Given the description of an element on the screen output the (x, y) to click on. 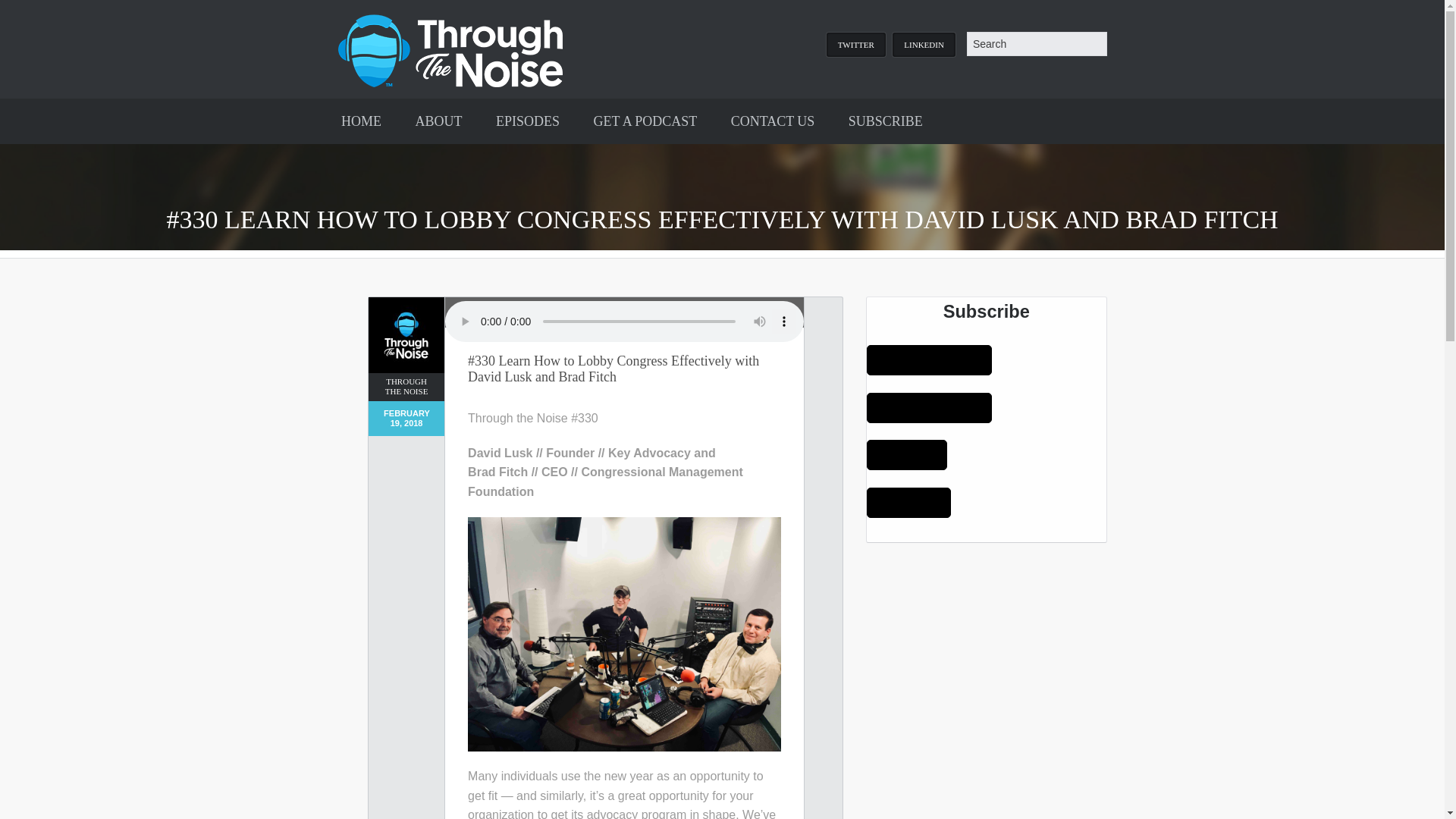
Search (25, 9)
SUBSCRIBE (884, 121)
LINKEDIN (923, 44)
Listen on Google Podcasts (928, 408)
Listen on Apple Podcasts (928, 359)
GET A PODCAST (644, 121)
Listen on Stitcher (908, 502)
ABOUT (438, 121)
TWITTER (856, 44)
HOME (361, 121)
